Given the description of an element on the screen output the (x, y) to click on. 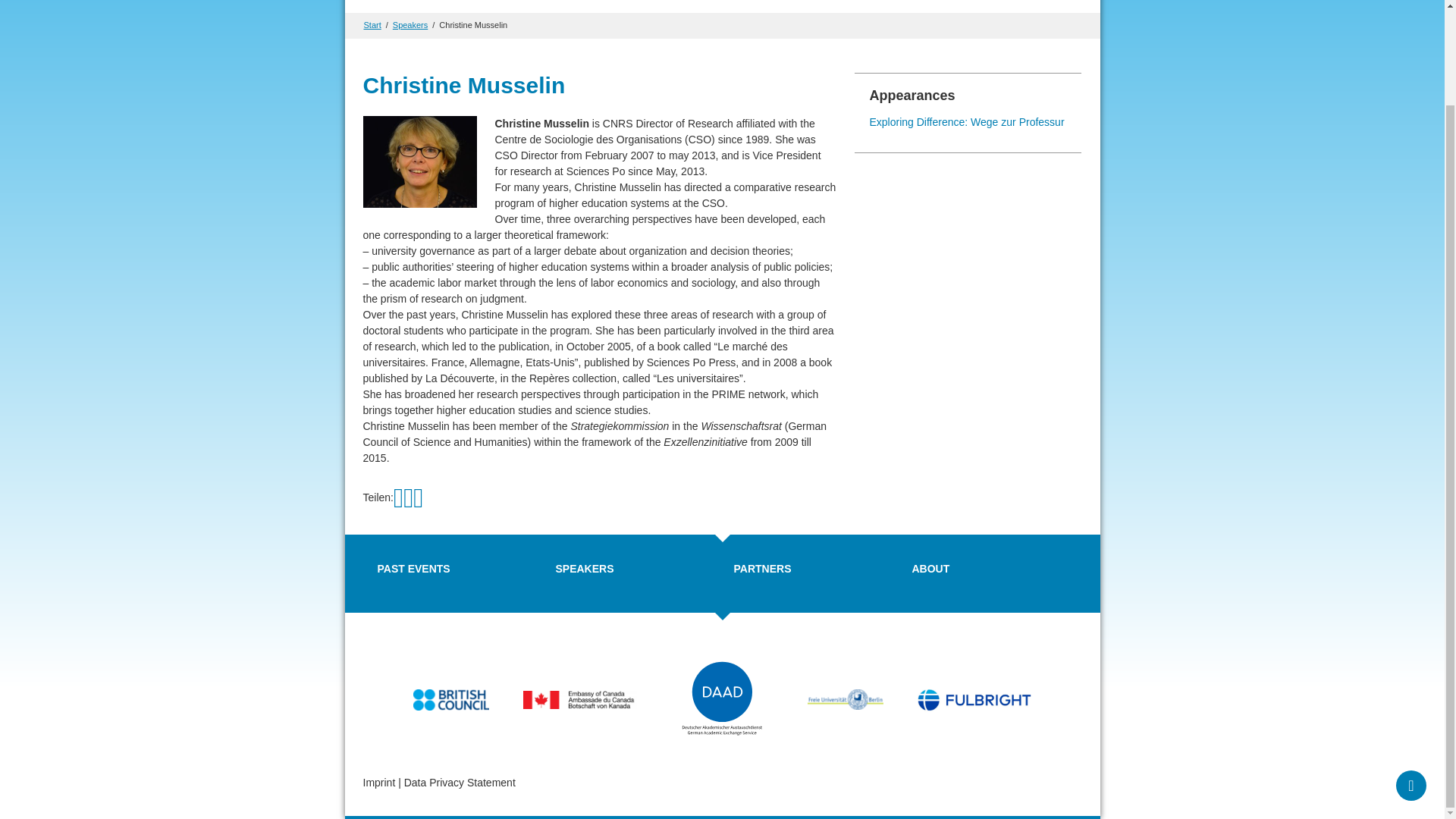
ABOUT (930, 568)
Start (372, 24)
Data Privacy Statement (459, 782)
Exploring Difference: Wege zur Professur (966, 121)
Christine Musselin (472, 24)
Nach oben (1411, 675)
SPEAKERS (583, 568)
Imprint (378, 782)
Speakers (410, 24)
PAST EVENTS (413, 568)
PARTNERS (762, 568)
